Given the description of an element on the screen output the (x, y) to click on. 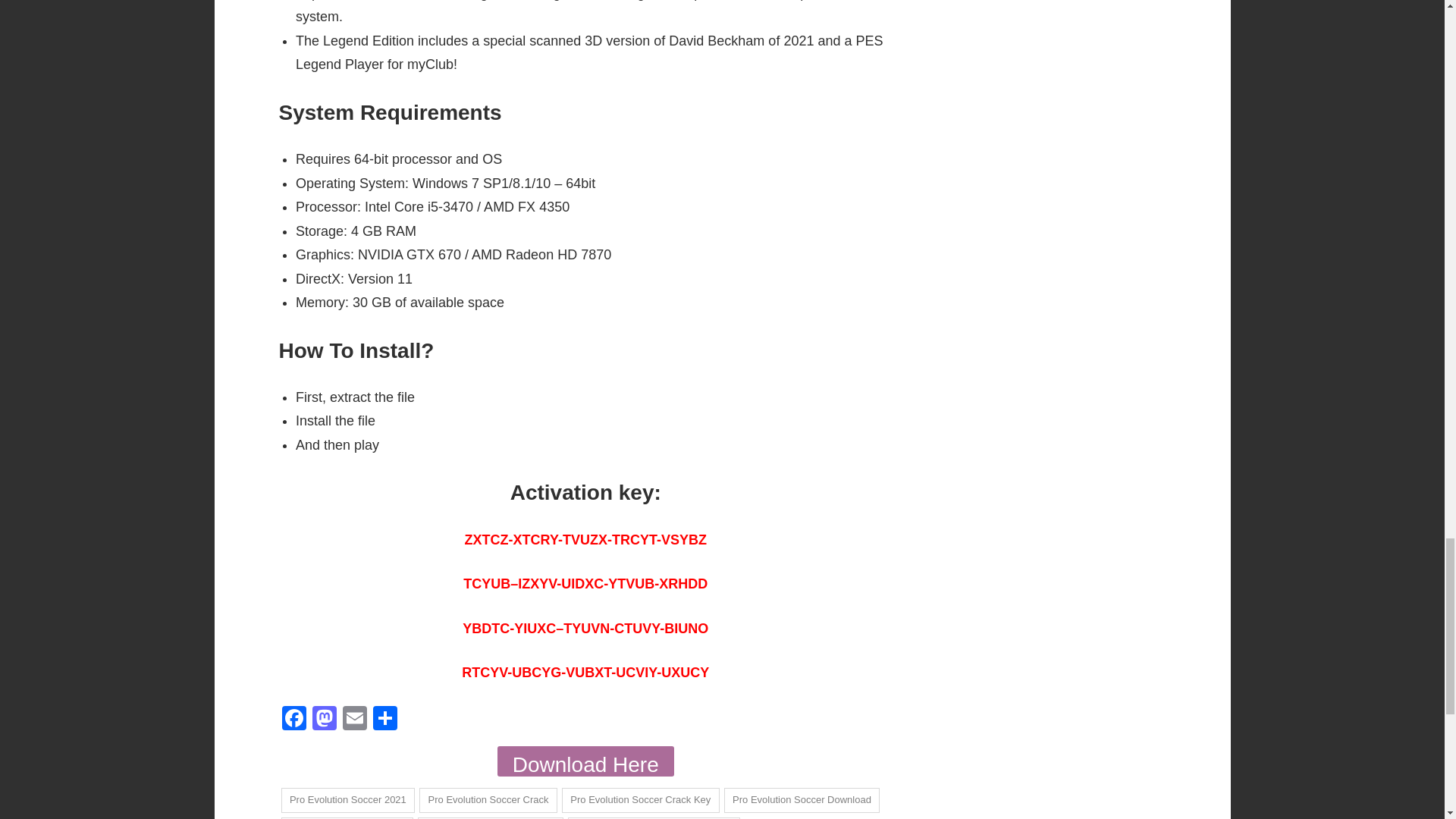
Mastodon (323, 719)
Pro Evolution Soccer Crack Key (640, 800)
Pro Evolution Soccer Crack (488, 800)
Email (354, 719)
Facebook (293, 719)
Pro Evolution Soccer Free (347, 818)
Facebook (293, 719)
Download Here (585, 761)
Email (354, 719)
Pro Evolution Soccer Keygen (490, 818)
Mastodon (323, 719)
Pro Evolution Soccer Download (801, 800)
Pro Evolution Soccer 2021 (347, 800)
